Given the description of an element on the screen output the (x, y) to click on. 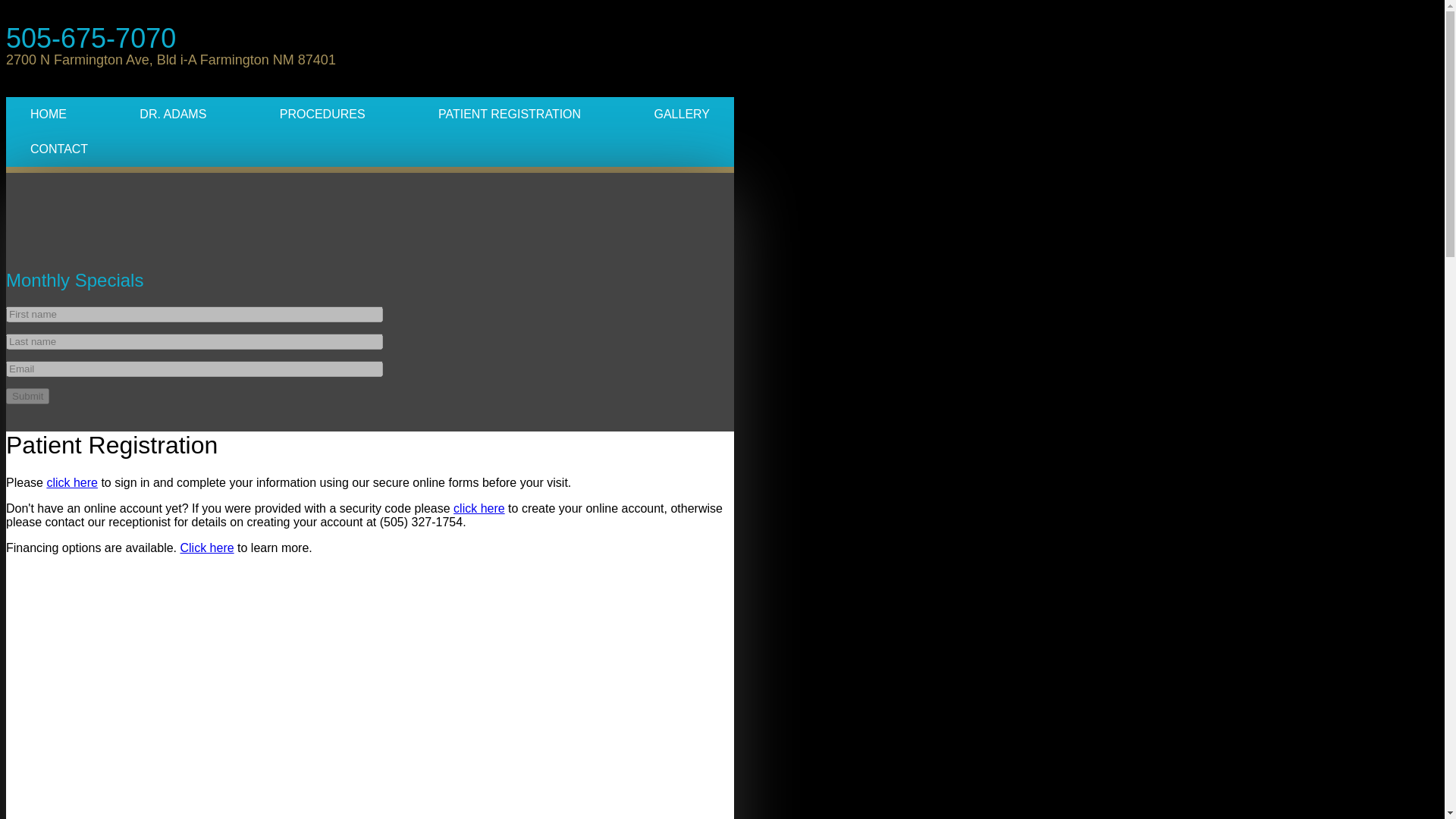
CONTACT (58, 149)
HOME (47, 114)
PATIENT REGISTRATION (509, 114)
Submit (27, 396)
RSS (84, 219)
PROCEDURES (323, 114)
DR. ADAMS (172, 114)
GALLERY (680, 114)
Facebook (31, 219)
Twitter (136, 219)
